Given the description of an element on the screen output the (x, y) to click on. 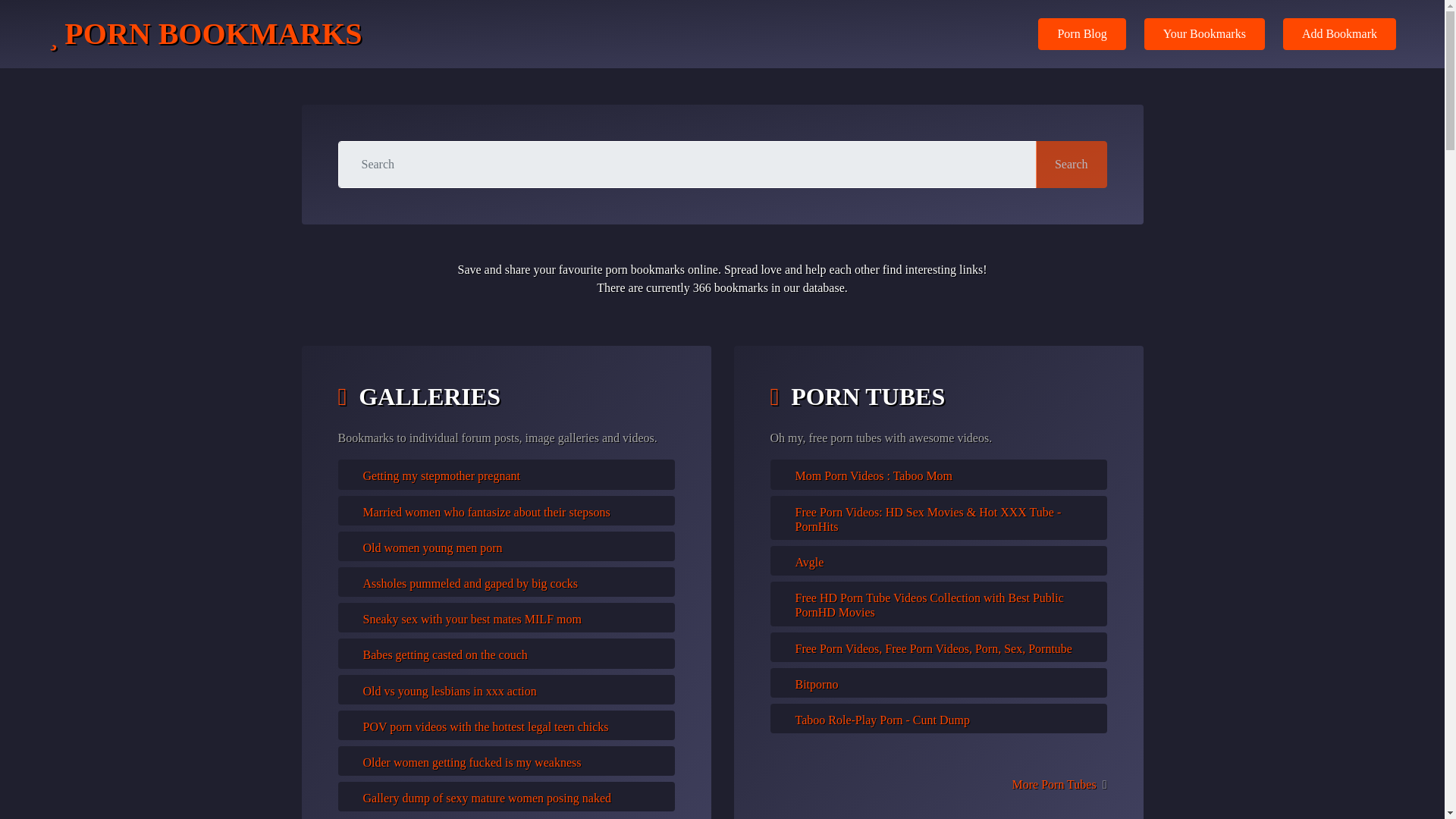
Older women getting fucked is my weakness (471, 762)
Getting my stepmother pregnant (440, 475)
Bitporno (816, 684)
Search (1070, 164)
Mom Porn Videos : Taboo Mom (873, 475)
Sneaky sex with your best mates MILF mom (471, 618)
Free Porn Videos, Free Porn Videos, Porn, Sex, Porntube (932, 648)
Porn Blog (1081, 33)
Your Bookmarks (1204, 33)
More Porn Tubes (1053, 784)
